Given the description of an element on the screen output the (x, y) to click on. 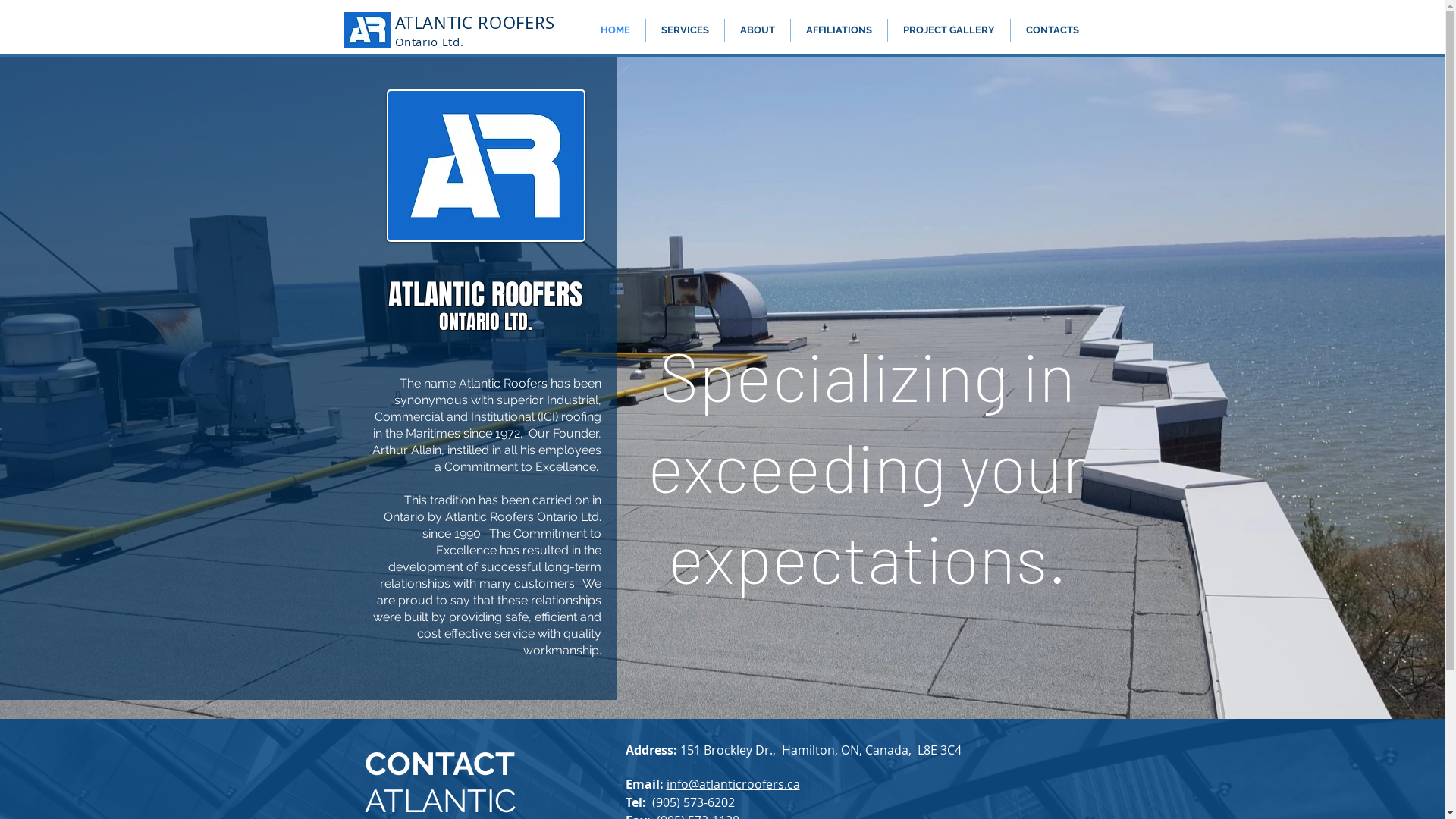
AFFILIATIONS Element type: text (838, 29)
SERVICES Element type: text (685, 29)
PROJECT GALLERY Element type: text (948, 29)
HOME Element type: text (615, 29)
ABOUT Element type: text (757, 29)
info@atlanticroofers.ca Element type: text (732, 783)
ATLANTIC Element type: text (433, 22)
CONTACTS Element type: text (1051, 29)
